Given the description of an element on the screen output the (x, y) to click on. 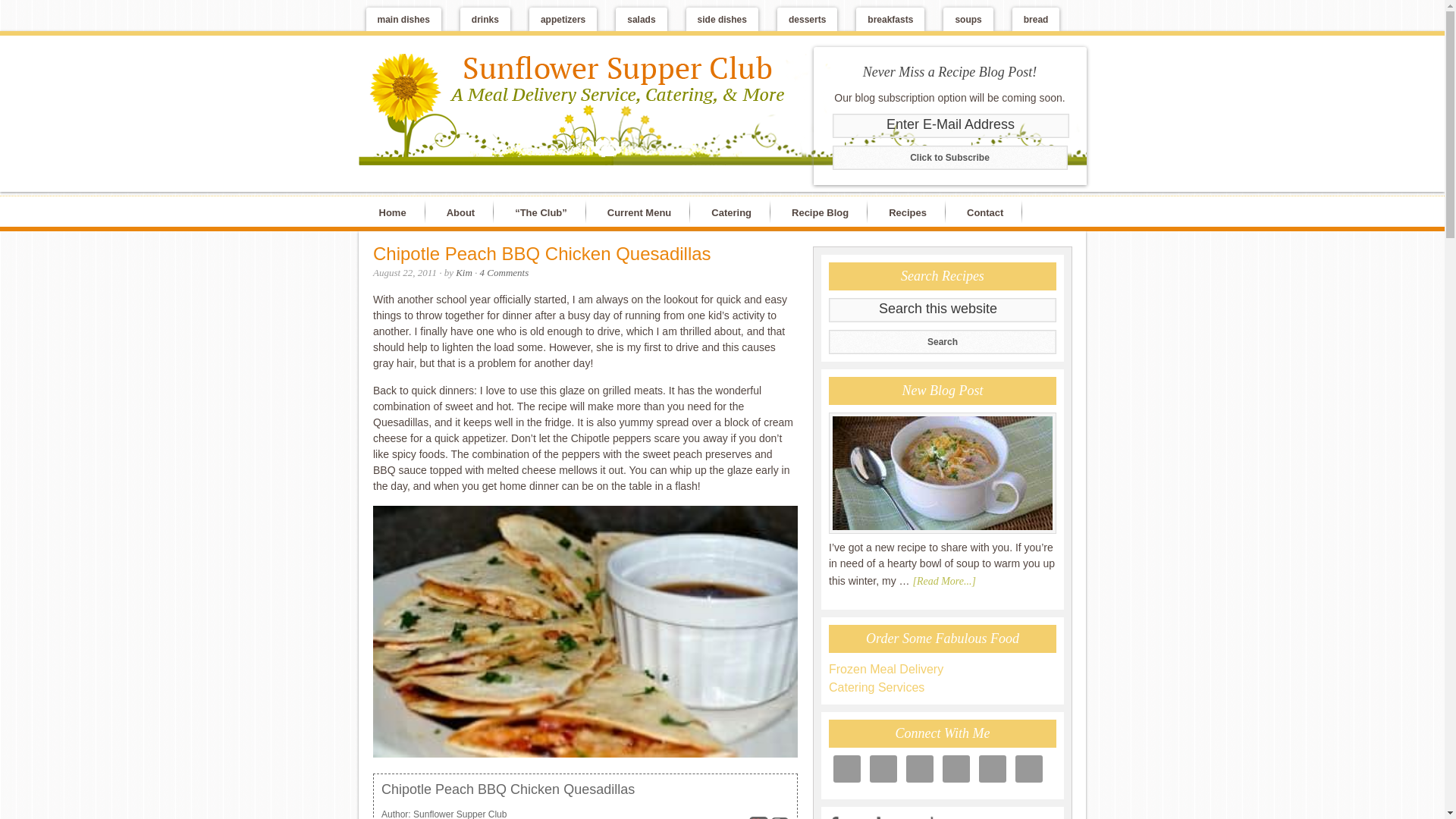
desserts (807, 19)
Recipes (911, 211)
drinks (485, 19)
Home (395, 211)
Contact (988, 211)
bread (1035, 19)
soups (967, 19)
Kim (463, 272)
breakfasts (890, 19)
Save (758, 817)
salads (640, 19)
Current Menu (642, 211)
Search (942, 340)
appetizers (562, 19)
Click to Subscribe (949, 157)
